Given the description of an element on the screen output the (x, y) to click on. 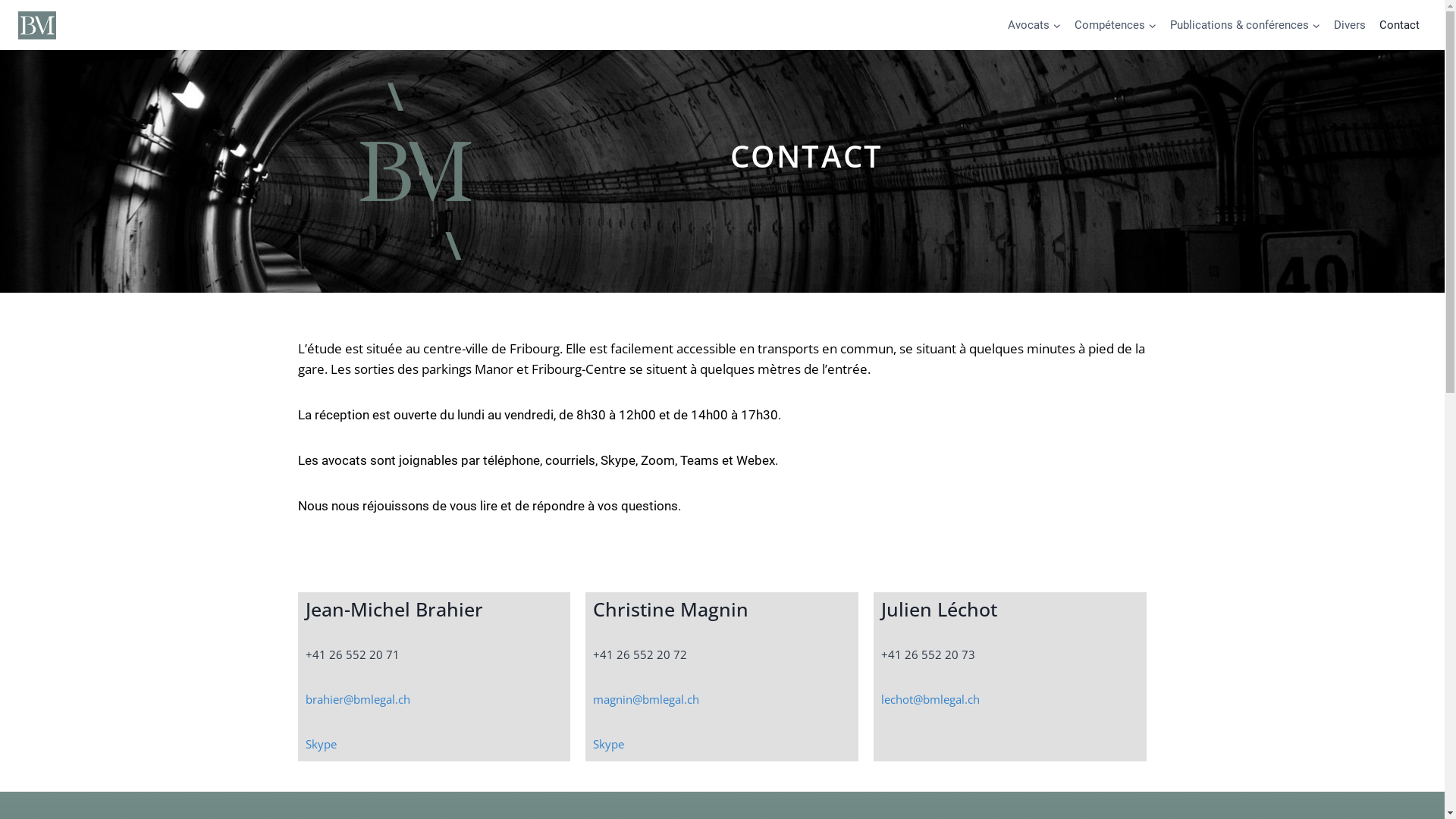
lechot@bmlegal.ch Element type: text (930, 698)
brahier@bmlegal.ch Element type: text (356, 698)
Skype Element type: text (319, 743)
Divers Element type: text (1349, 25)
Jean-Michel Brahier Element type: text (393, 608)
Christine Magnin Element type: text (670, 608)
Skype Element type: text (608, 743)
Contact Element type: text (1399, 25)
Avocats Element type: text (1034, 25)
magnin@bmlegal.ch Element type: text (646, 698)
200310__013_-removebg Element type: hover (418, 171)
